Given the description of an element on the screen output the (x, y) to click on. 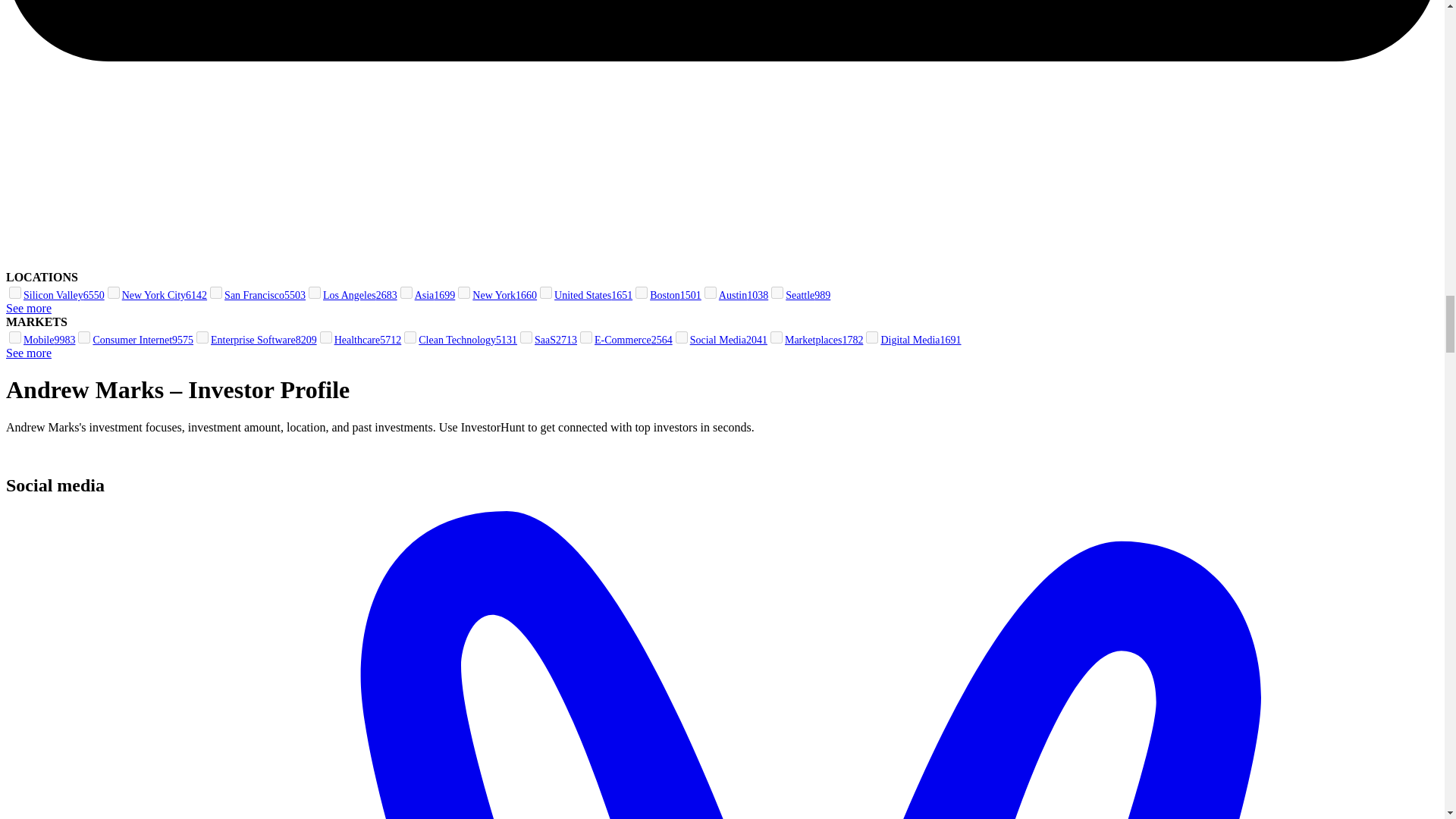
Digital Media1691 (911, 339)
on (464, 292)
Consumer Internet9575 (134, 339)
E-Commerce2564 (624, 339)
New York1660 (495, 295)
Mobile9983 (40, 339)
on (113, 292)
Austin1038 (734, 295)
on (710, 292)
on (14, 292)
on (585, 337)
Clean Technology5131 (458, 339)
on (84, 337)
on (410, 337)
on (525, 337)
